Given the description of an element on the screen output the (x, y) to click on. 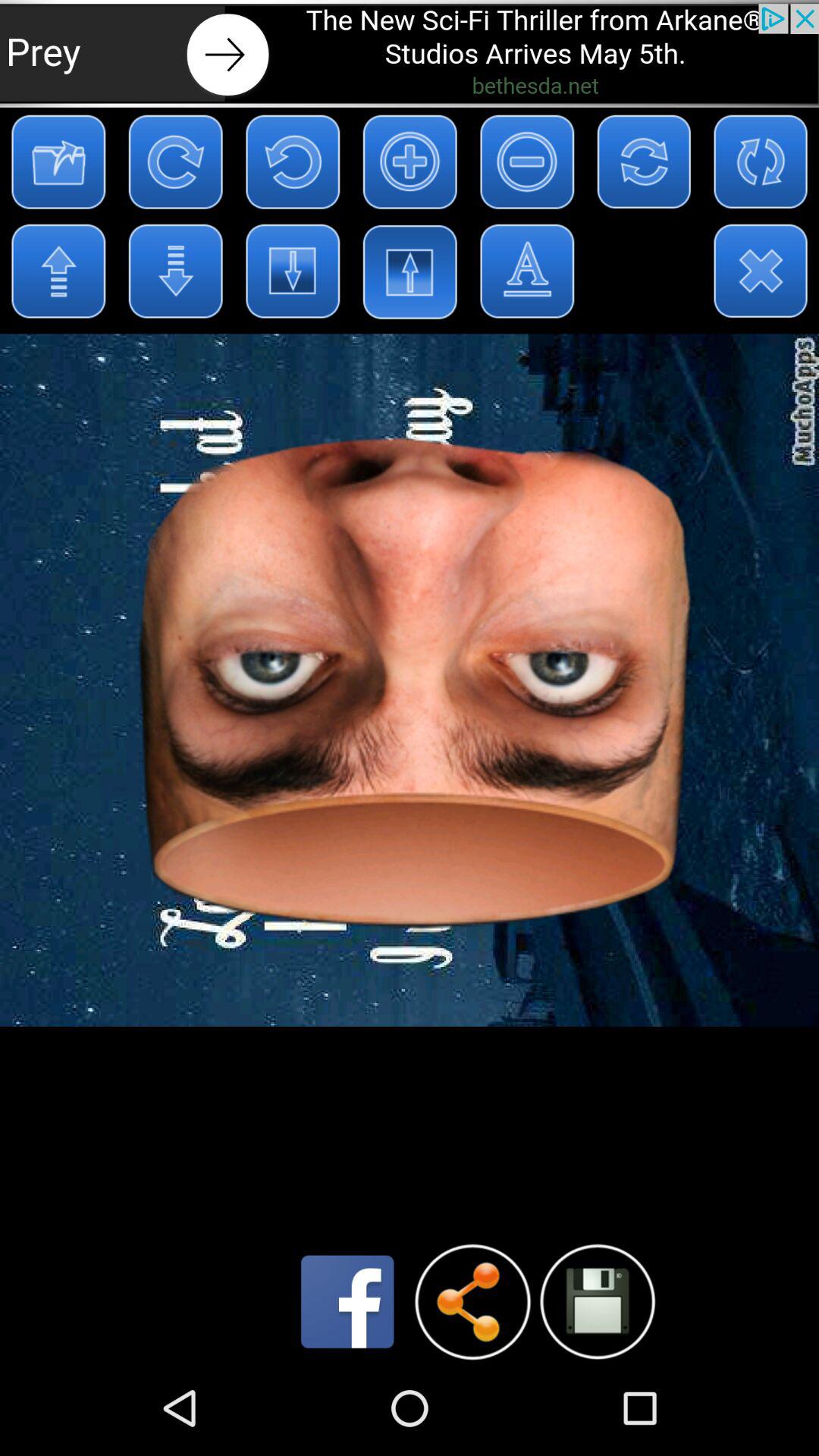
setting option (597, 1301)
